Given the description of an element on the screen output the (x, y) to click on. 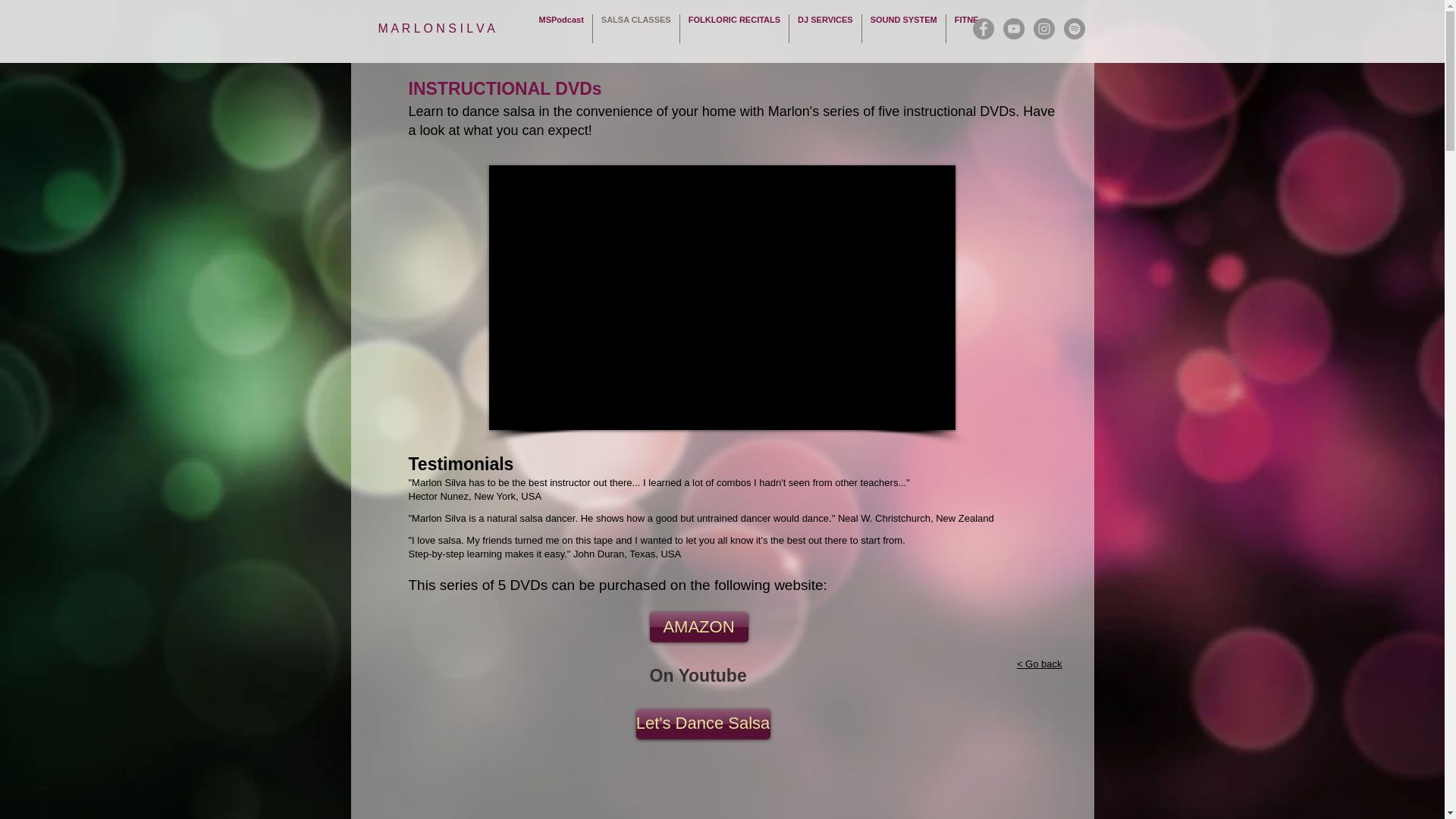
FITNESS FOR SENIOR CITIZENS (1019, 28)
AMAZON (698, 626)
External YouTube (721, 297)
SALSA CLASSES (635, 28)
FOLKLORIC RECITALS (734, 28)
DJ SERVICES (825, 28)
MSPodcast (561, 28)
Let's Dance Salsa (702, 724)
M A R L O N S I L V A (445, 28)
SOUND SYSTEM (902, 28)
